Given the description of an element on the screen output the (x, y) to click on. 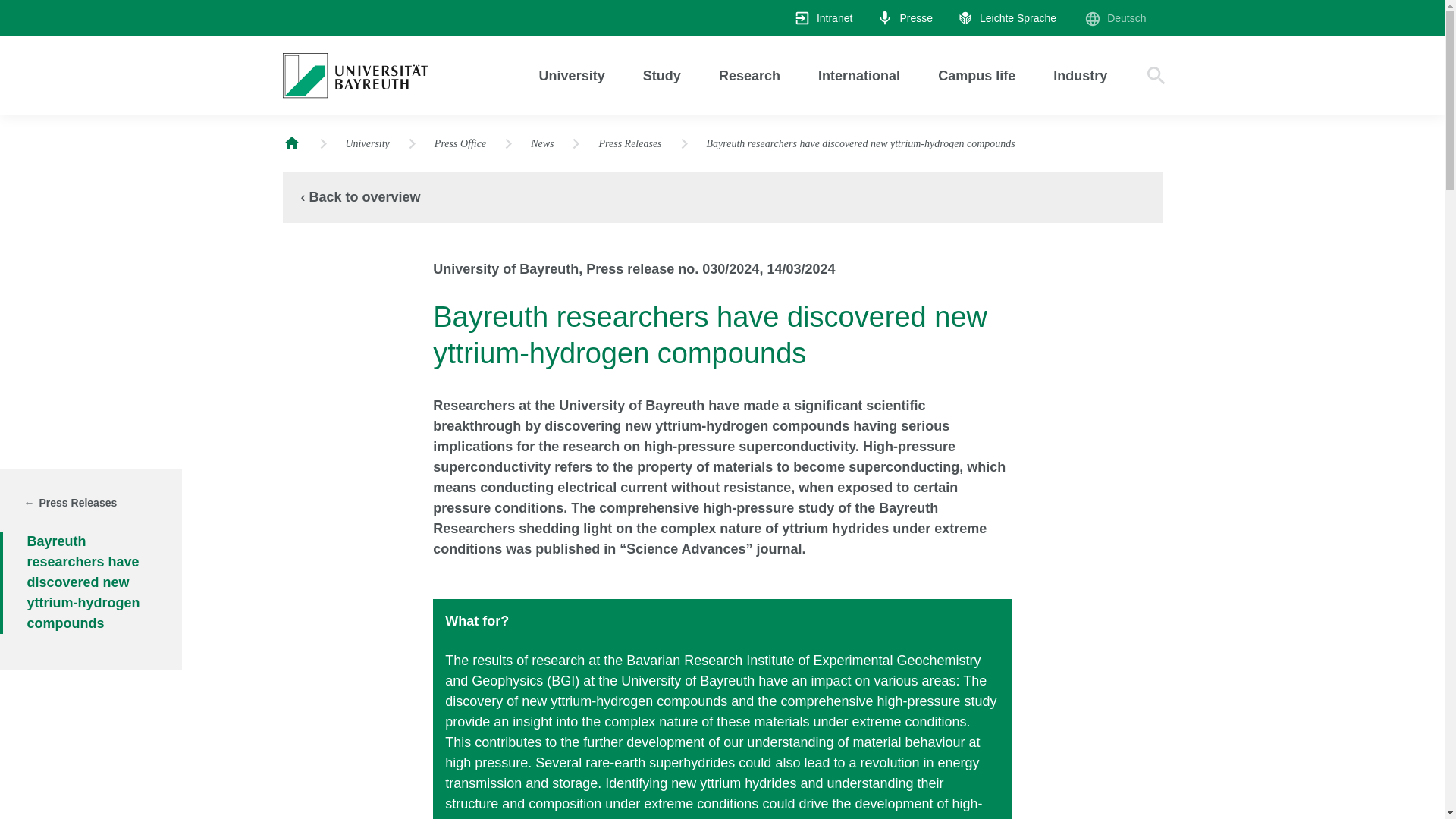
News (542, 143)
Press Office (459, 143)
University (571, 75)
Press Releases (78, 503)
Gehe zu:  (459, 143)
Gehe zu:  (904, 18)
Gehe zu:  (368, 143)
International (858, 75)
Im neuen Fenster: Intranet (822, 18)
Industry (1080, 75)
